Given the description of an element on the screen output the (x, y) to click on. 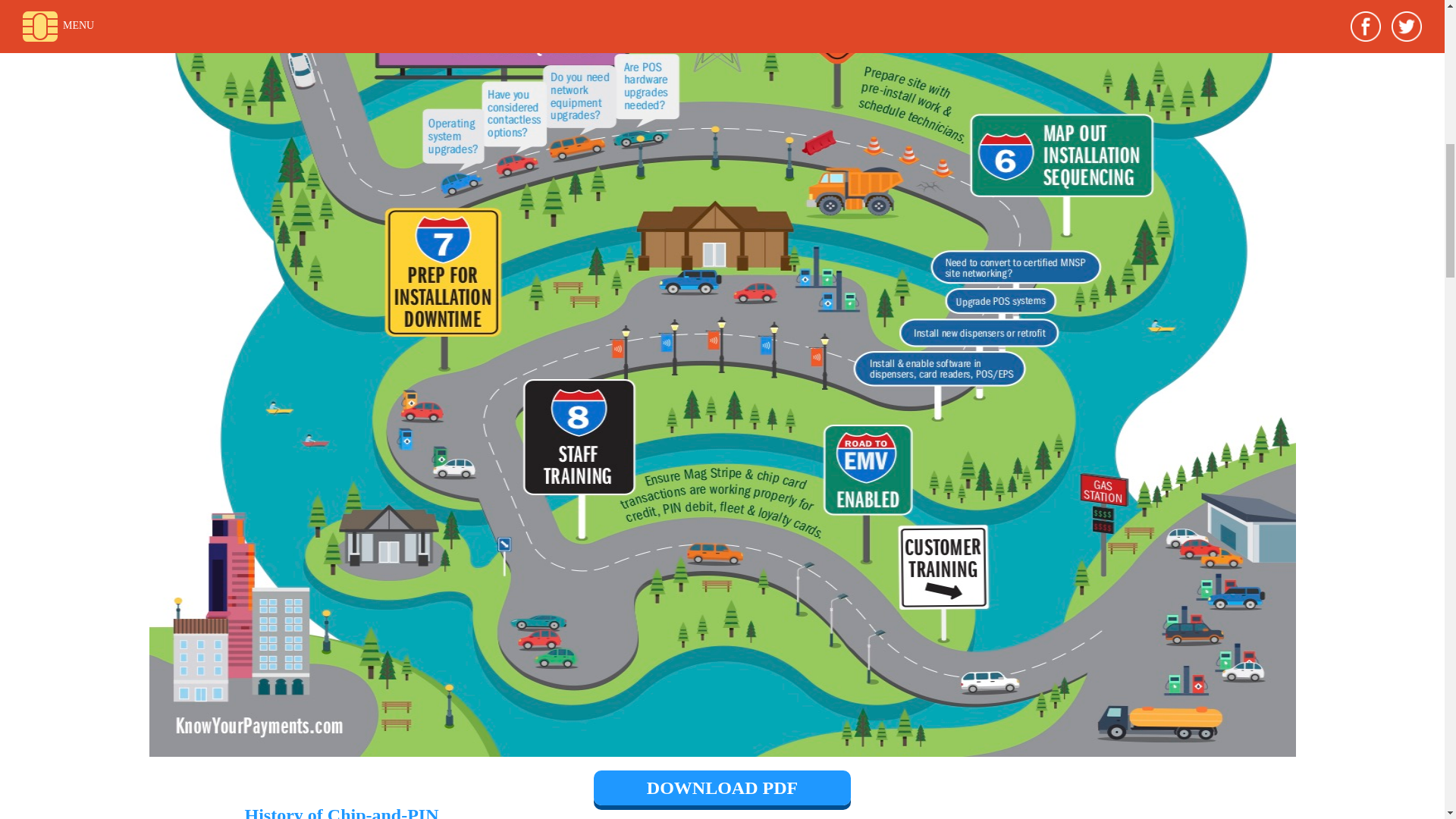
DOWNLOAD PDF (722, 787)
